Given the description of an element on the screen output the (x, y) to click on. 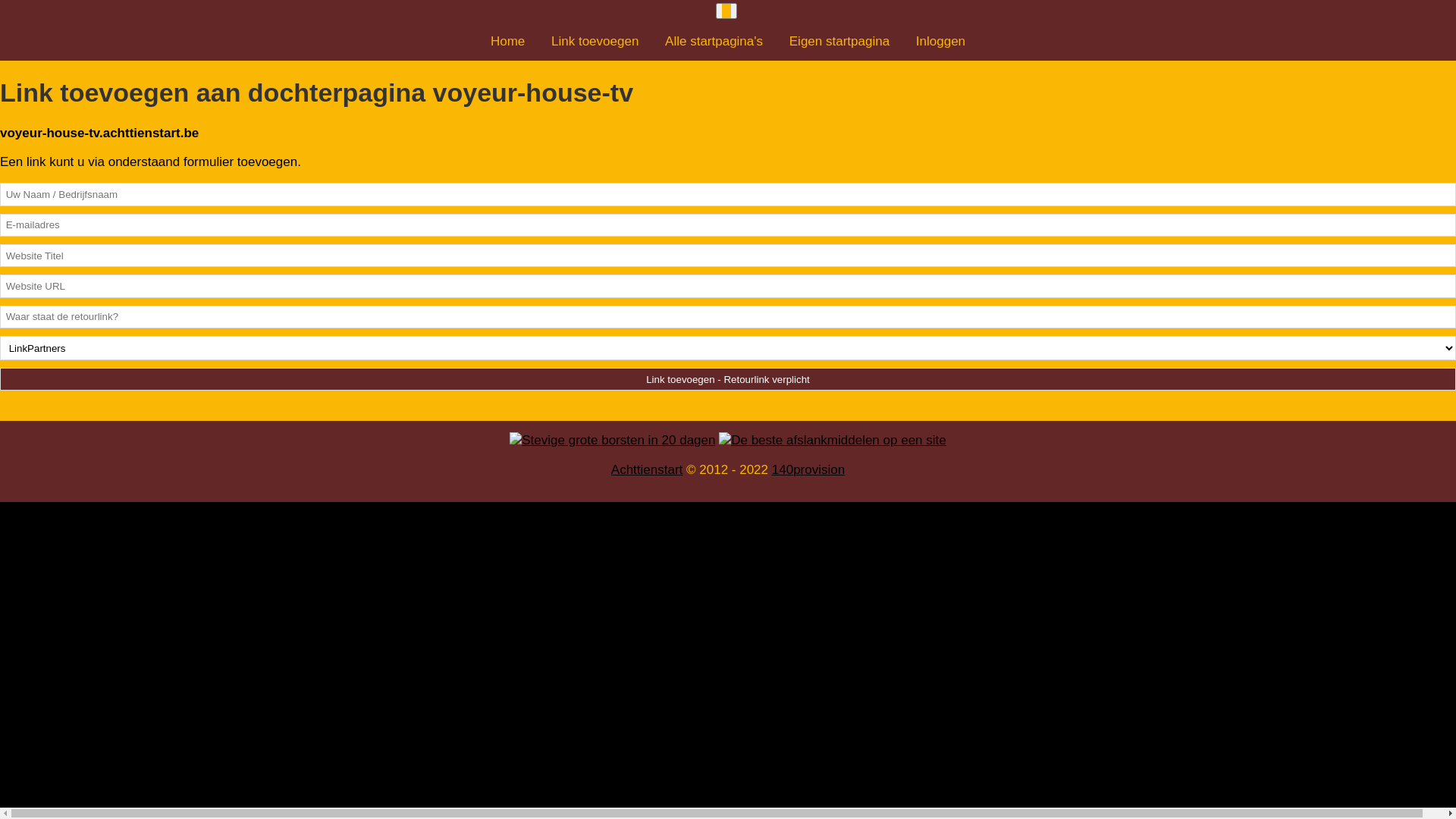
140provision Element type: text (807, 469)
Achttienstart Element type: text (647, 469)
De beste afslankmiddelen op een site Element type: hover (832, 440)
Link toevoegen Element type: text (594, 40)
Stevige grote borsten in 20 dagen Element type: hover (612, 440)
Inloggen Element type: text (940, 40)
Eigen startpagina Element type: text (839, 40)
Home Element type: text (507, 40)
Alle startpagina's Element type: text (713, 40)
